Given the description of an element on the screen output the (x, y) to click on. 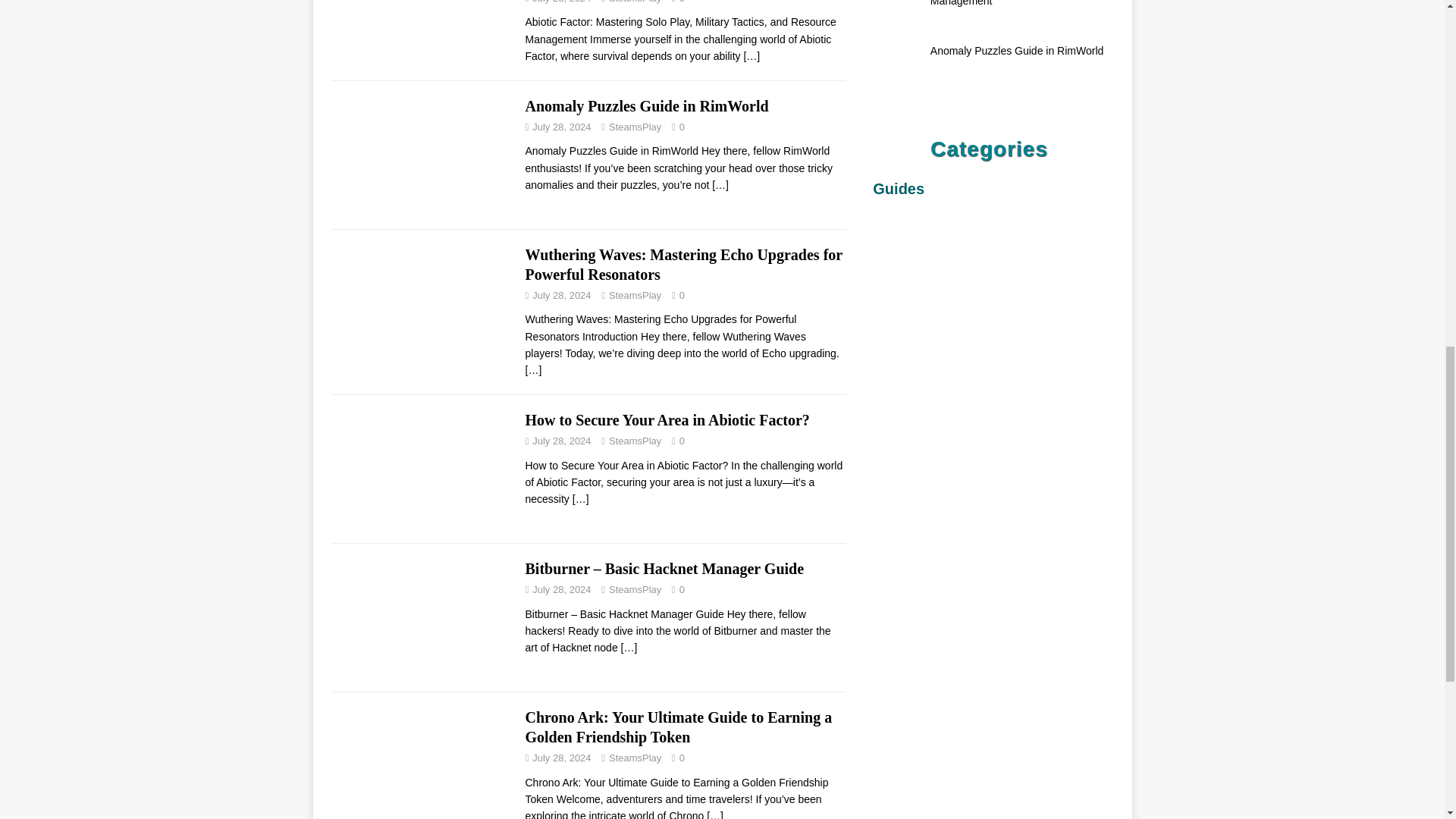
Anomaly Puzzles Guide in RimWorld 5 (421, 154)
Anomaly Puzzles Guide in RimWorld (720, 184)
Bitburner - Basic Hacknet Manager Guide 8 (421, 617)
SteamsPlay (634, 440)
How to Secure Your Area in Abiotic Factor? (580, 499)
